Given the description of an element on the screen output the (x, y) to click on. 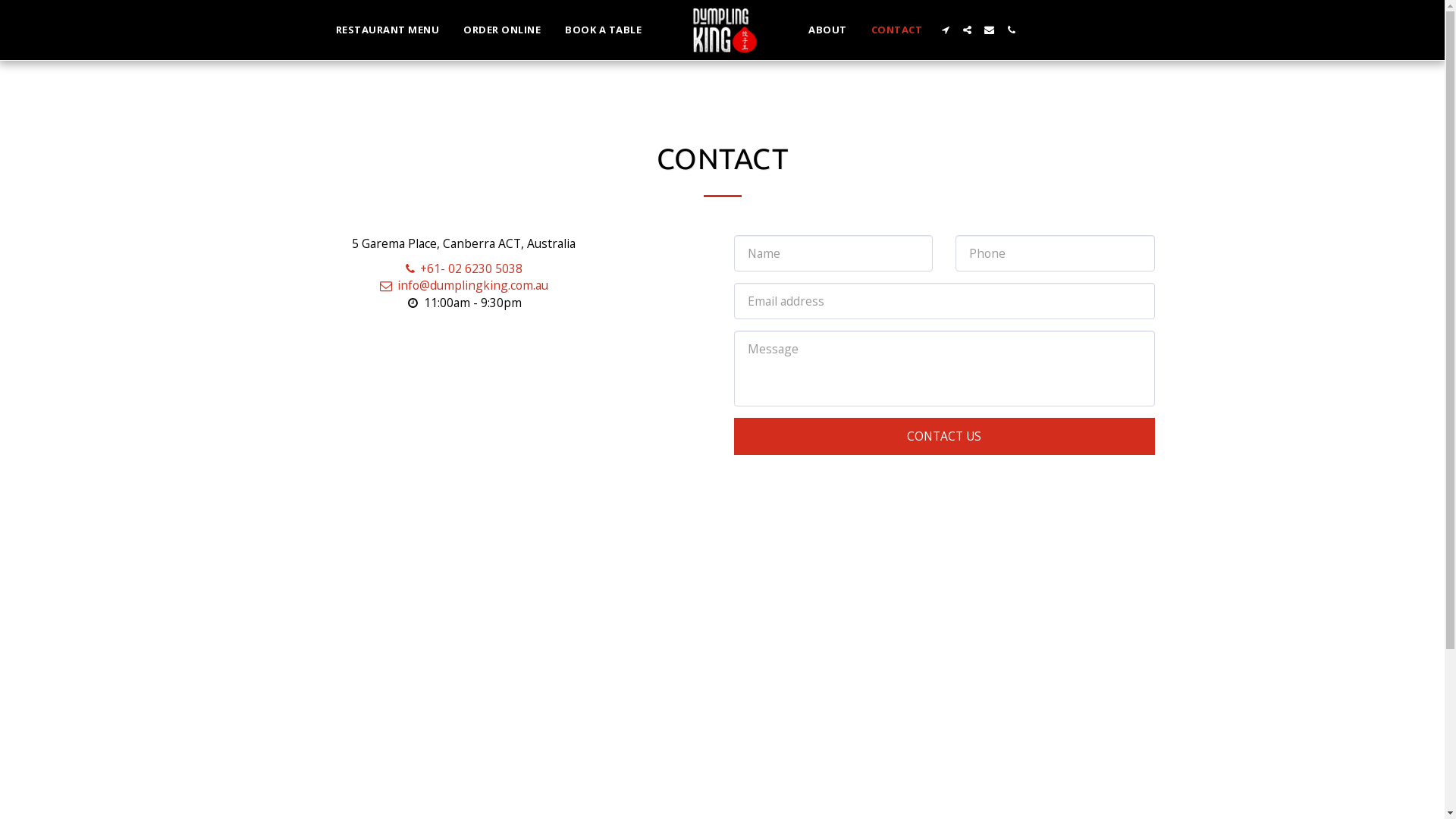
BOOK A TABLE Element type: text (602, 29)
  Element type: text (967, 29)
RESTAURANT MENU Element type: text (387, 29)
 +61- 02 6230 5038 Element type: text (463, 268)
  Element type: text (989, 29)
  Element type: text (1011, 29)
ORDER ONLINE Element type: text (501, 29)
  Element type: text (945, 29)
CONTACT Element type: text (896, 29)
 info@dumplingking.com.au Element type: text (463, 284)
ABOUT Element type: text (827, 29)
CONTACT US Element type: text (944, 436)
